Given the description of an element on the screen output the (x, y) to click on. 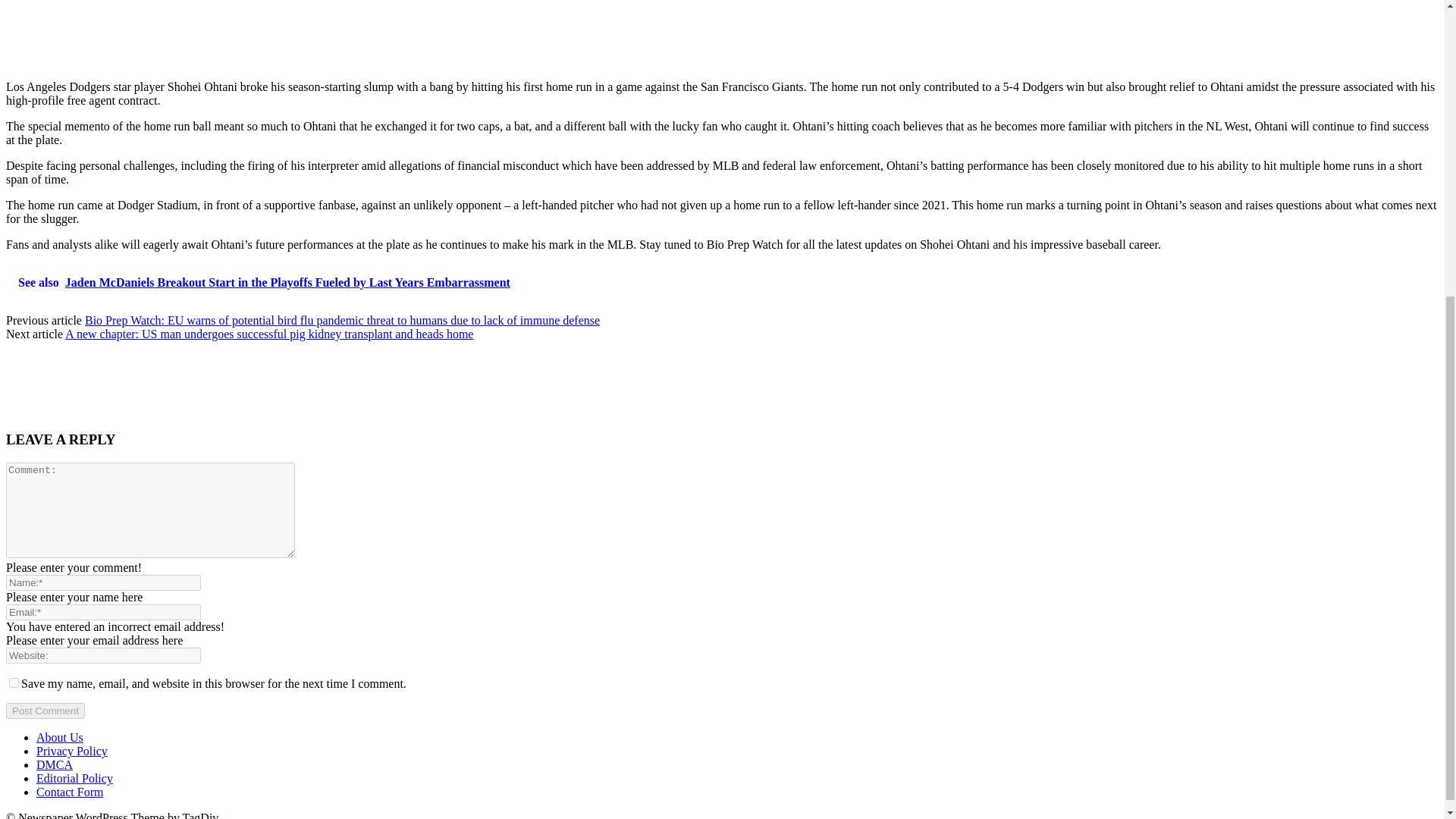
Post Comment (44, 710)
About Us (59, 737)
Post Comment (44, 710)
Editorial Policy (74, 778)
Contact Form (69, 791)
Privacy Policy (71, 750)
yes (13, 682)
DMCA (54, 764)
